Given the description of an element on the screen output the (x, y) to click on. 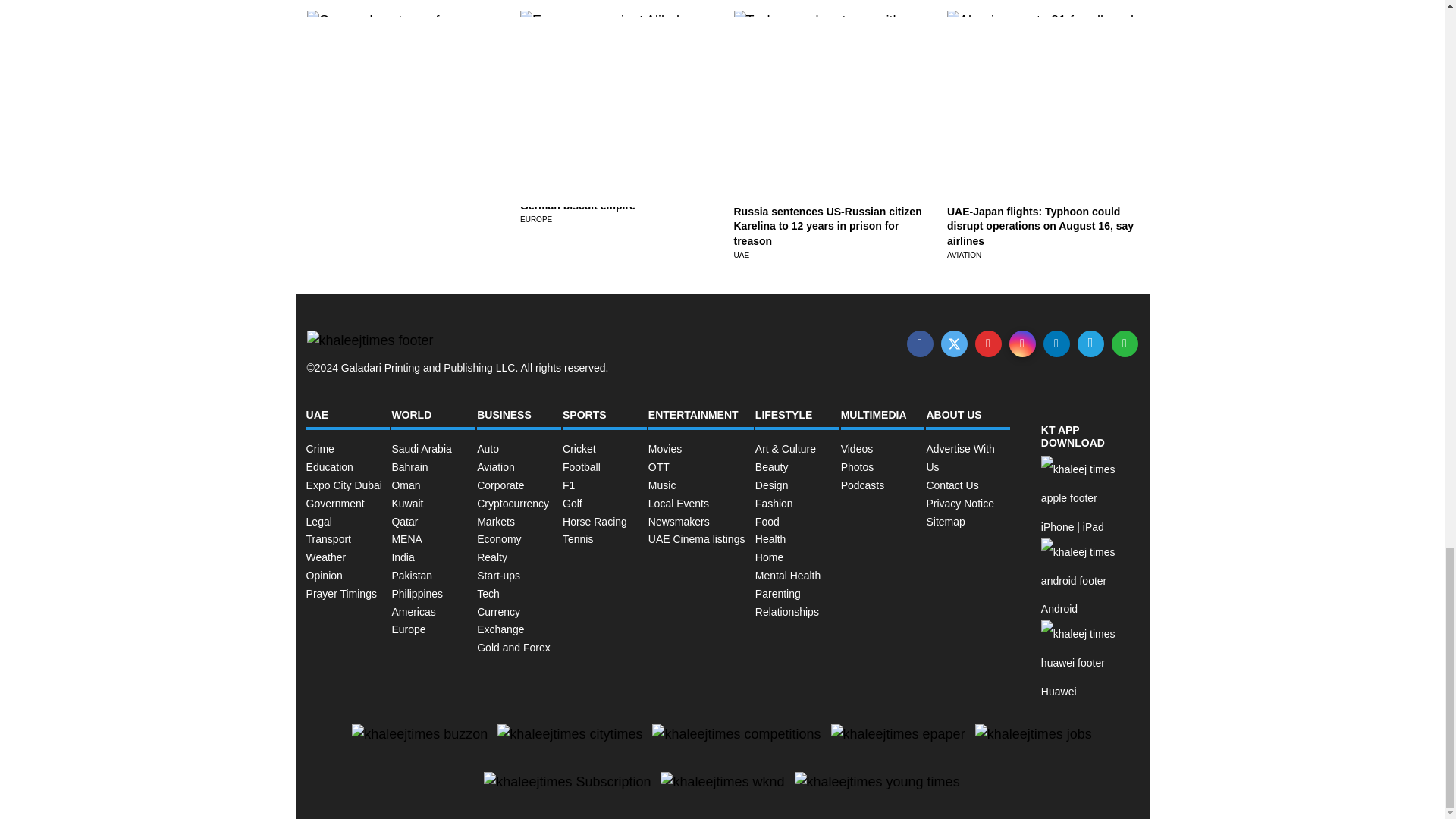
E-commerce giant Alibaba misses Q1 revenue estimates (614, 72)
More Nazi forced labour found at German biscuit empire (602, 198)
Algeria arrests 21 for alleged arms trafficking (1034, 72)
Techysquad partners with Spotware in exclusive collaboration (824, 93)
8 earthquakes hit Syria in 24 hours  (393, 191)
